Given the description of an element on the screen output the (x, y) to click on. 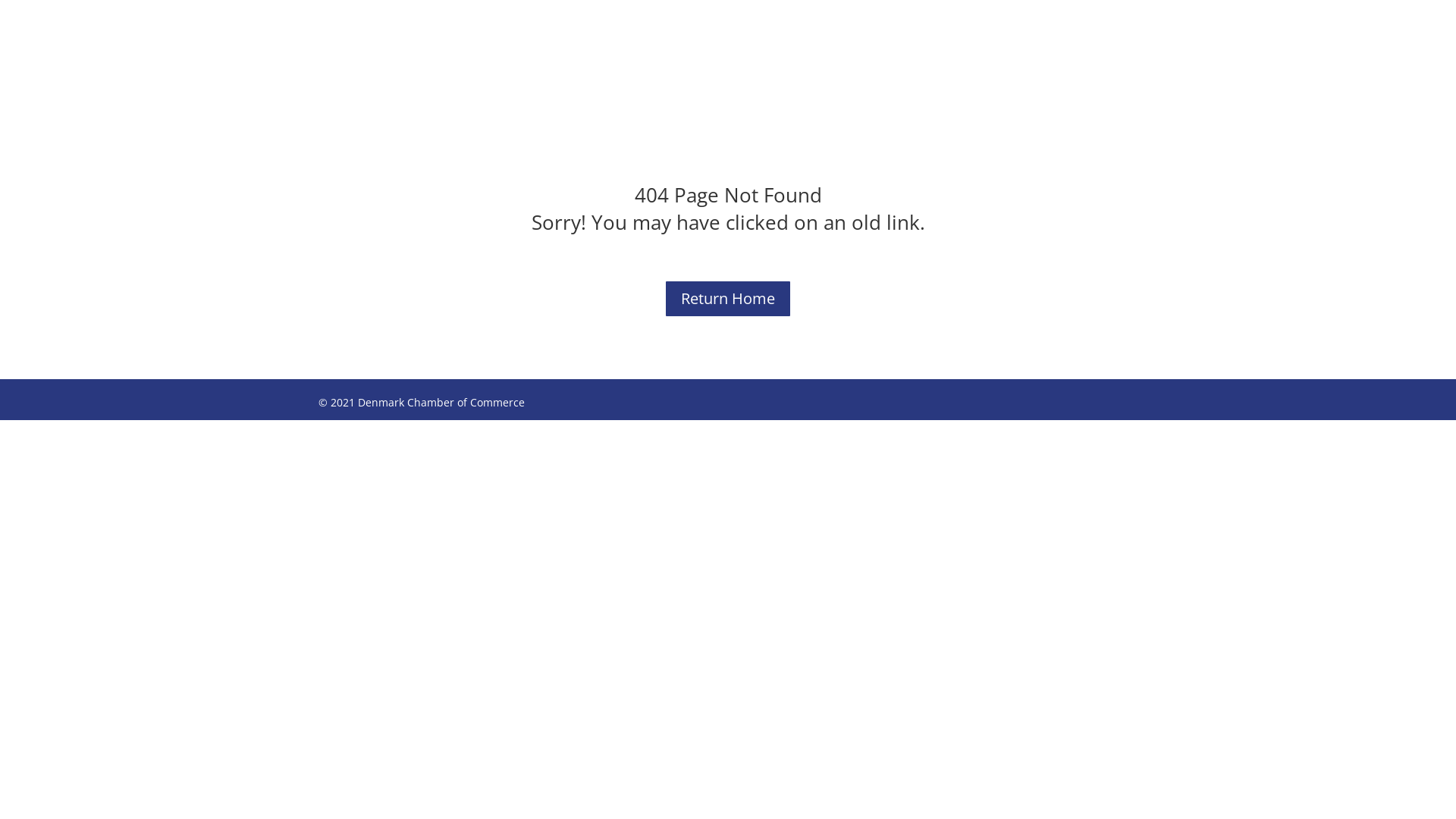
Return Home Element type: text (727, 298)
